Given the description of an element on the screen output the (x, y) to click on. 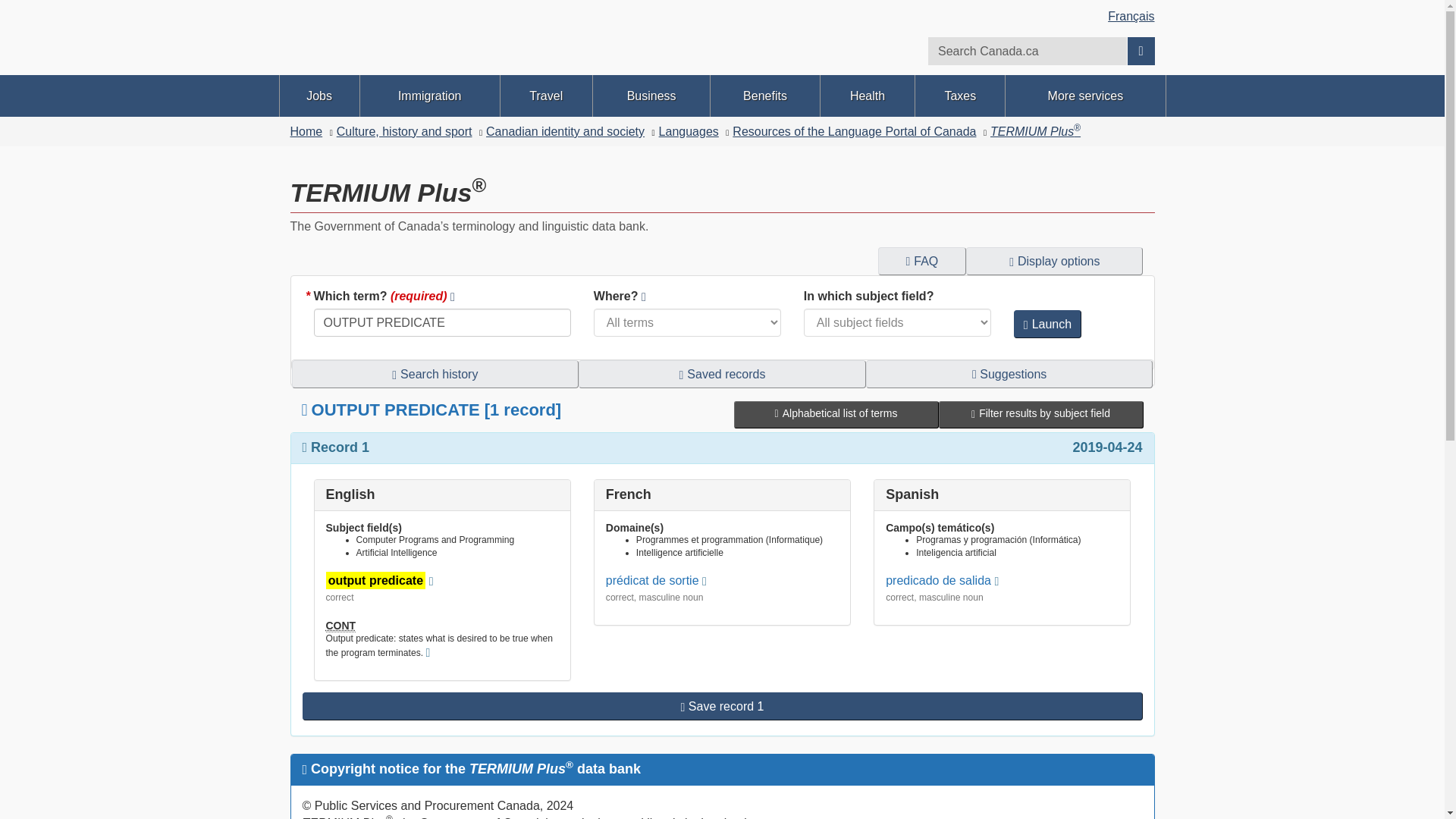
Government of Canada (499, 49)
Context (341, 625)
Immigration (429, 96)
Display options (1054, 261)
Languages (689, 131)
OUTPUT PREDICATE (442, 322)
Display options (1054, 261)
Skip to main content (725, 11)
Jobs (318, 96)
Search (1140, 50)
